Given the description of an element on the screen output the (x, y) to click on. 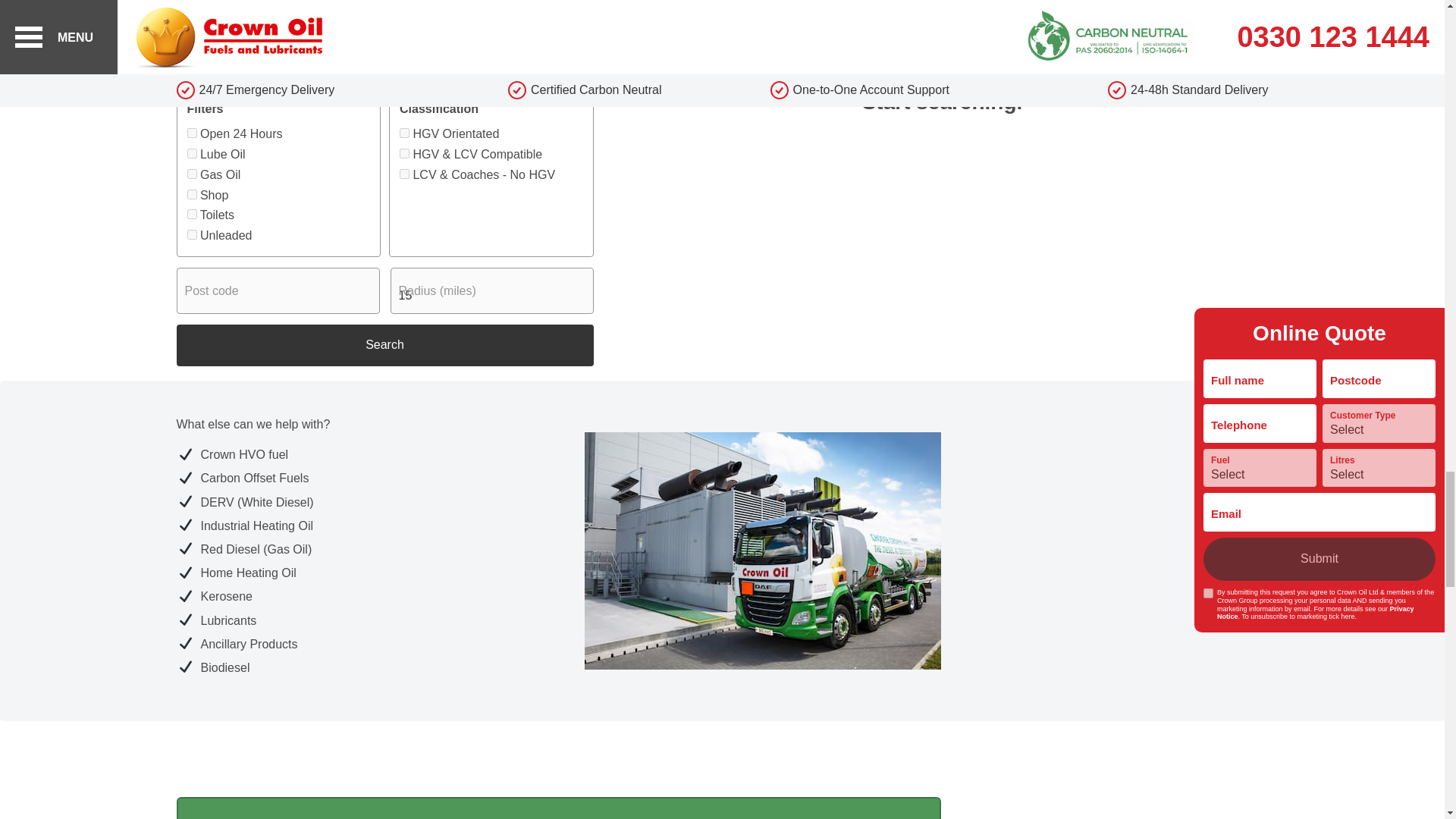
HGV Orientated (403, 132)
on (191, 214)
HGV Orientated (403, 132)
15 (491, 290)
on (191, 214)
on (191, 153)
on (191, 153)
on (191, 132)
on (191, 194)
on (191, 173)
on (191, 132)
on (191, 173)
on (191, 194)
on (191, 234)
on (191, 234)
